Given the description of an element on the screen output the (x, y) to click on. 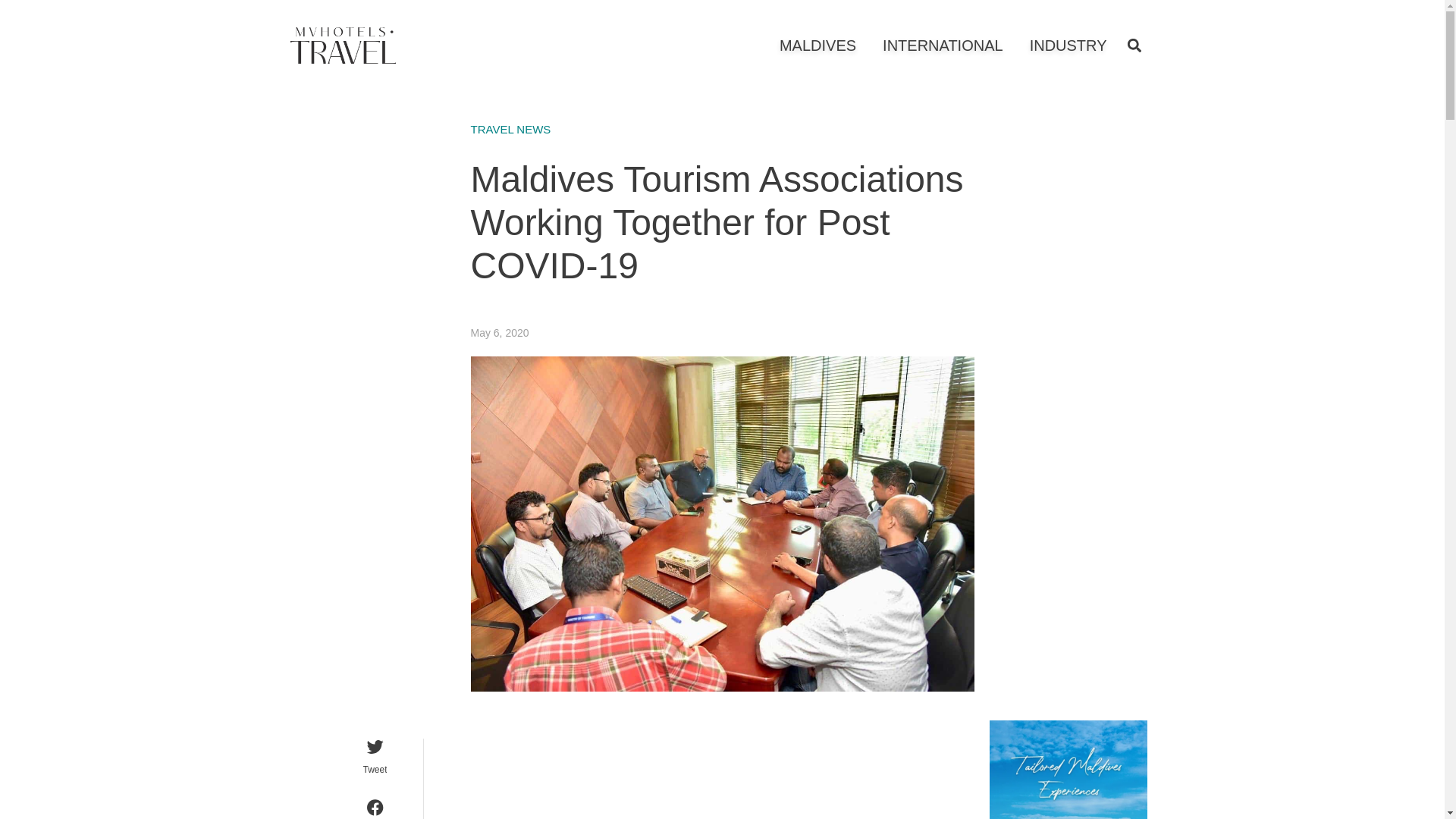
INTERNATIONAL (942, 45)
May 6, 2020 (499, 332)
MALDIVES (817, 45)
TRAVEL NEWS (510, 128)
INDUSTRY (1067, 45)
